Given the description of an element on the screen output the (x, y) to click on. 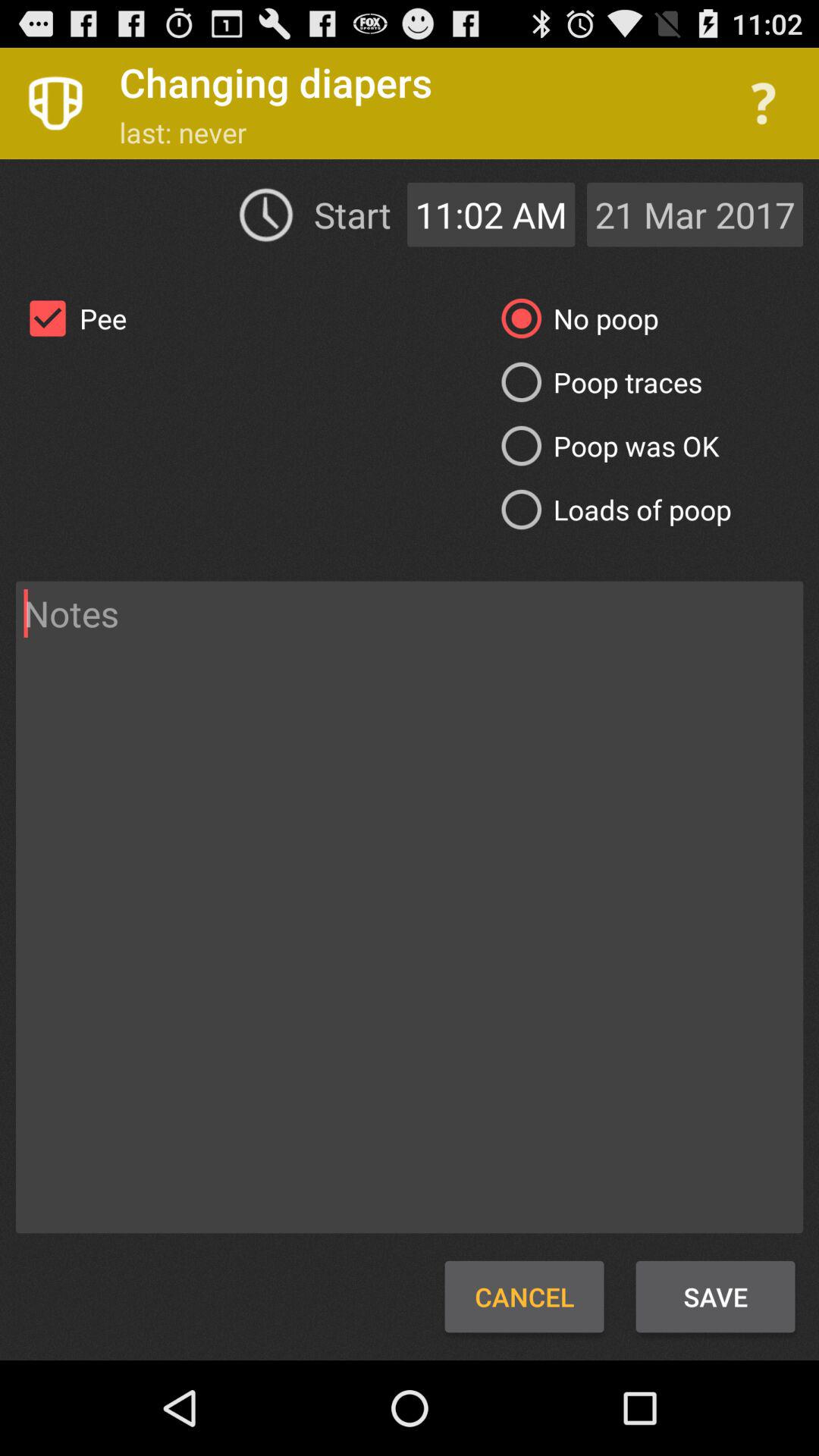
choose the icon above the poop traces item (573, 318)
